Given the description of an element on the screen output the (x, y) to click on. 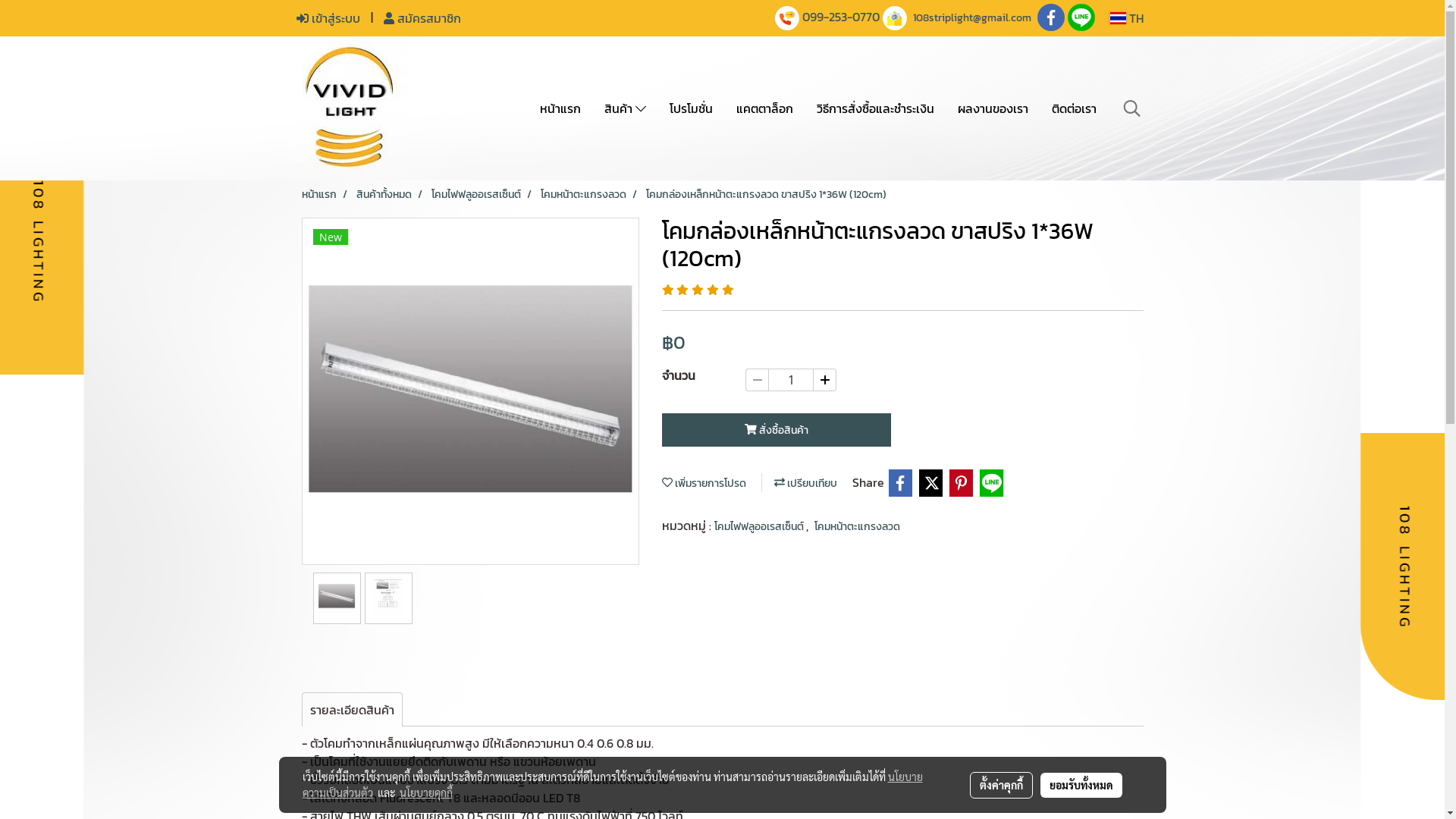
108striplight@gmail.com Element type: text (972, 17)
099-253-0770 Element type: text (840, 16)
logo Element type: hover (347, 108)
TH Element type: text (1125, 18)
